Given the description of an element on the screen output the (x, y) to click on. 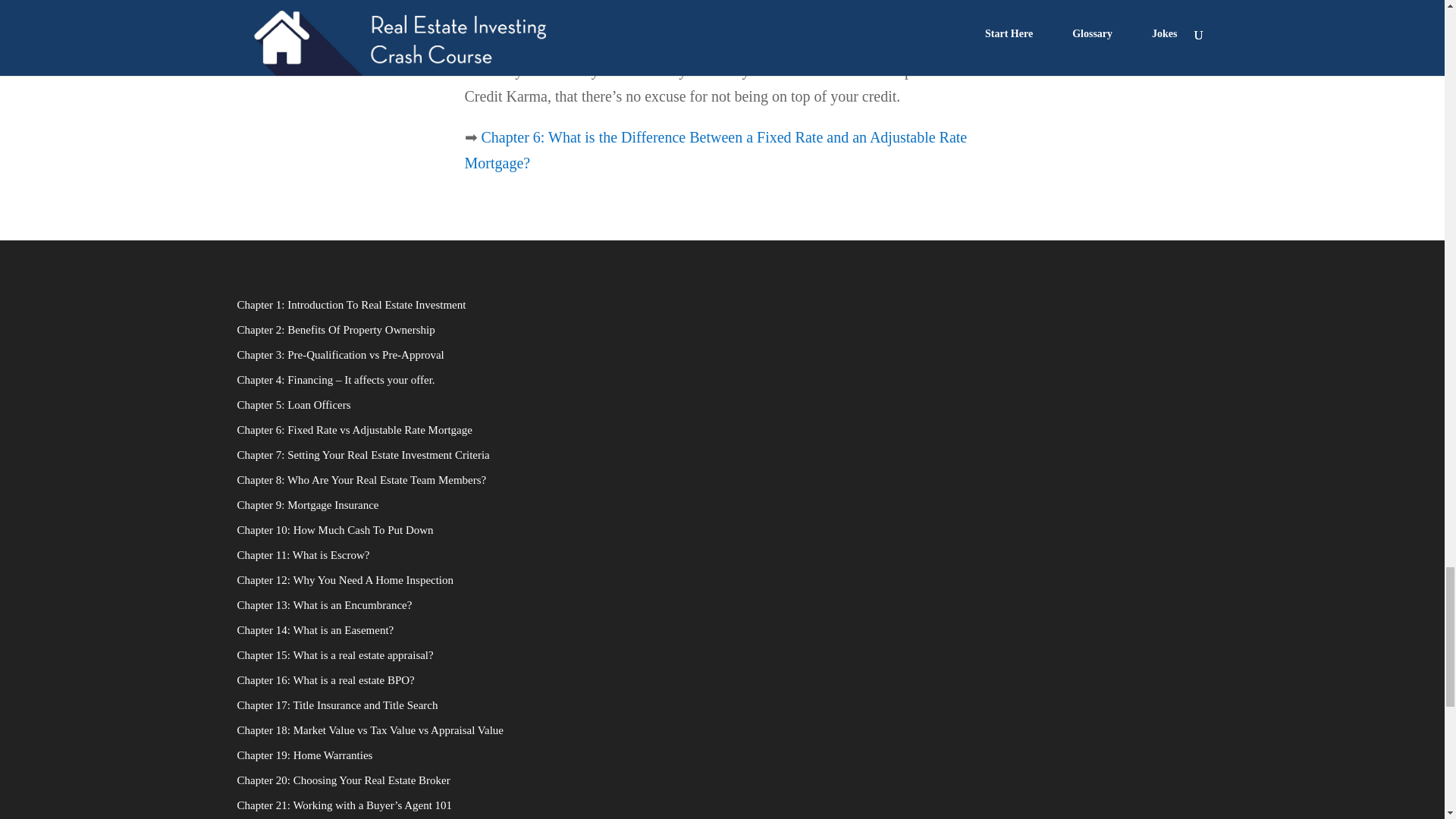
Chapter 13: What is an Encumbrance? (323, 604)
Chapter 15: What is a real estate appraisal? (333, 654)
Chapter 20: Choosing Your Real Estate Broker (342, 779)
Chapter 10: How Much Cash To Put Down (333, 530)
Chapter 5: Loan Officers (292, 404)
Chapter 7: Setting Your Real Estate Investment Criteria (362, 454)
Chapter 19: Home Warranties (303, 755)
Chapter 9: Mortgage Insurance (306, 504)
Chapter 17: Title Insurance and Title Search (336, 705)
Chapter 12: Why You Need A Home Inspection (343, 580)
